Given the description of an element on the screen output the (x, y) to click on. 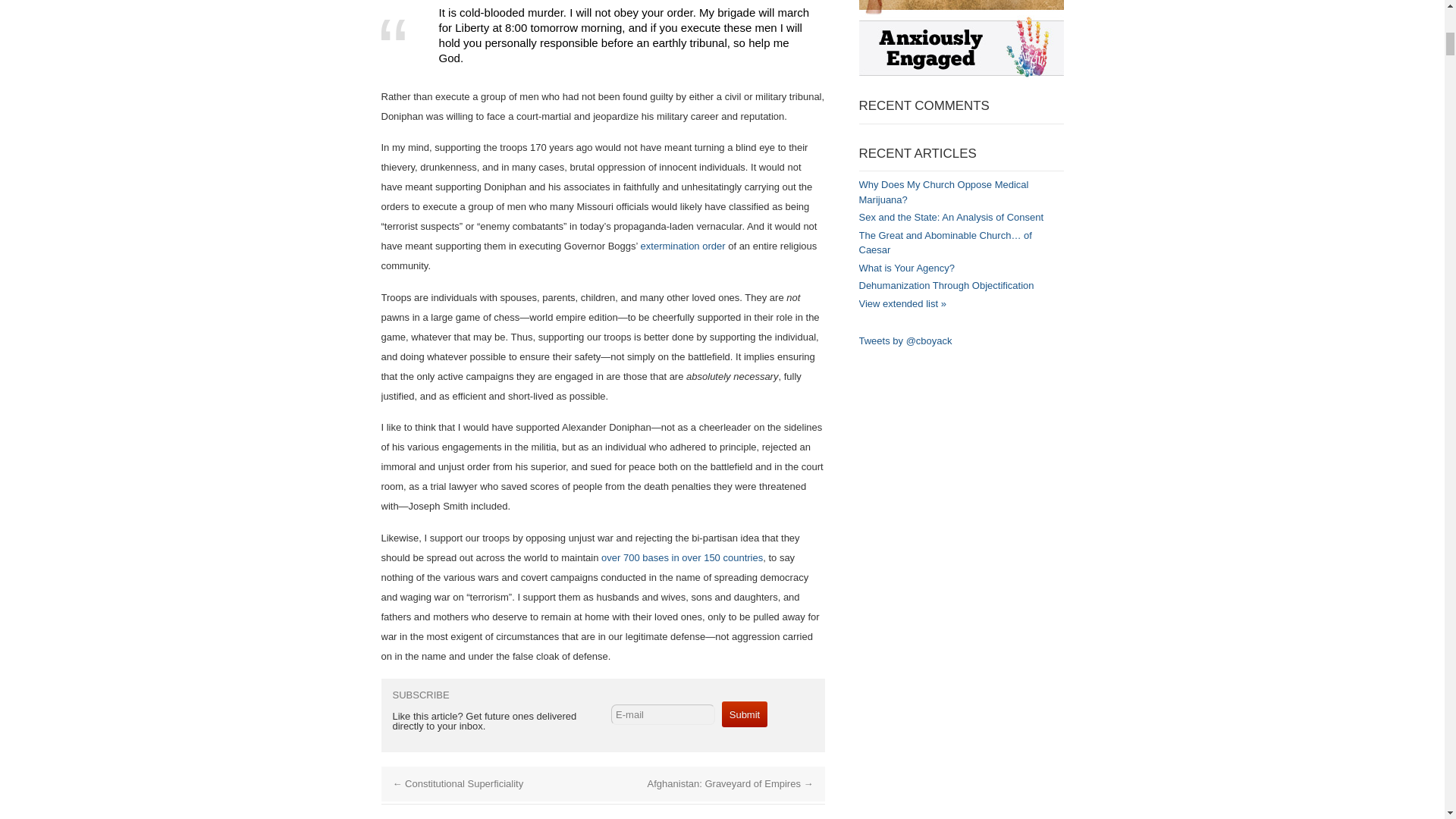
E-mail (662, 714)
Submit (744, 714)
over 700 bases in over 150 countries (681, 557)
Submit (744, 714)
extermination order (682, 245)
